Given the description of an element on the screen output the (x, y) to click on. 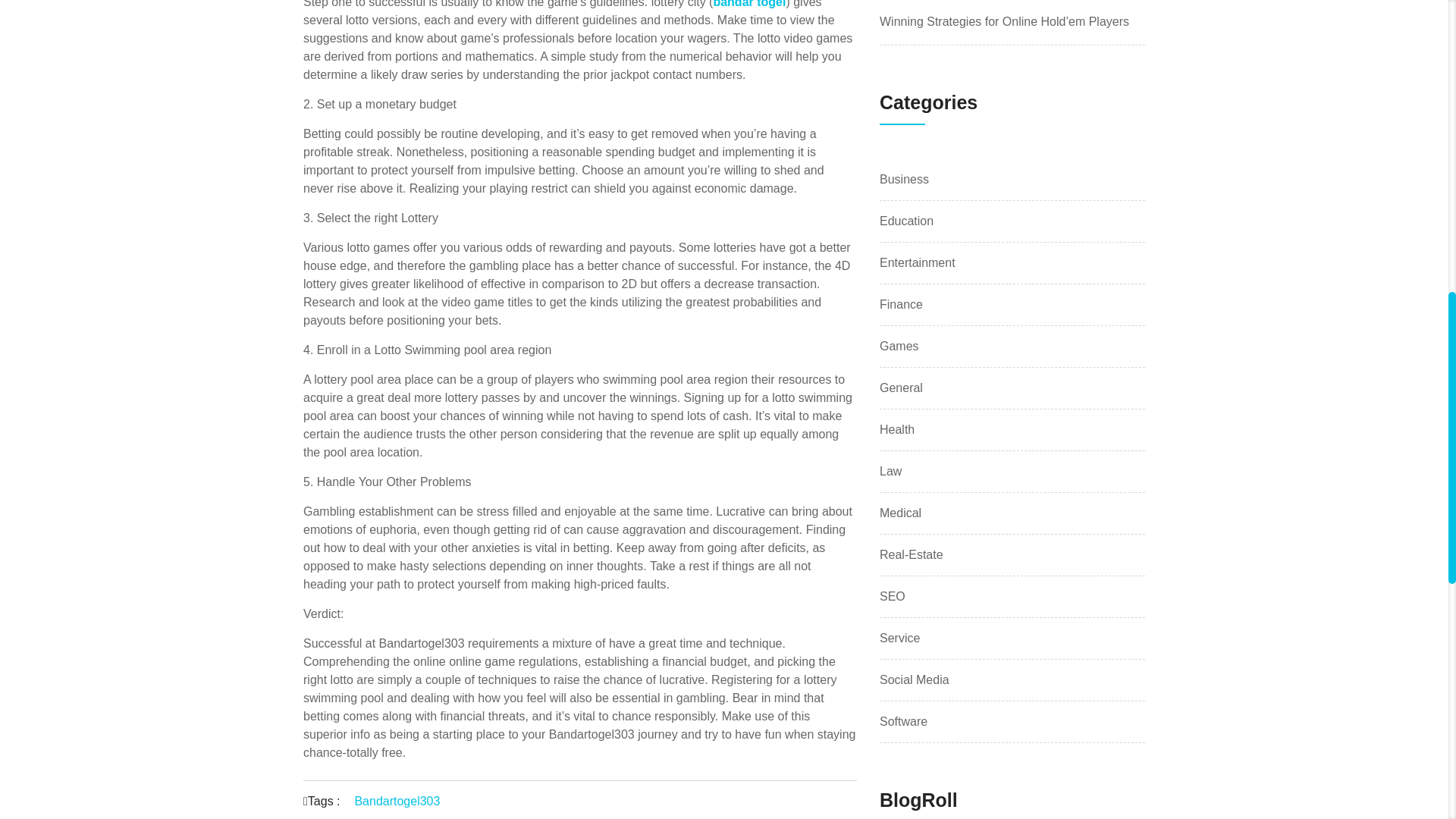
Medical (900, 513)
Social Media (914, 679)
Bandartogel303 (396, 800)
SEO (892, 597)
Finance (901, 304)
Health (896, 429)
Software (903, 721)
General (901, 388)
Games (898, 346)
Education (906, 221)
